Given the description of an element on the screen output the (x, y) to click on. 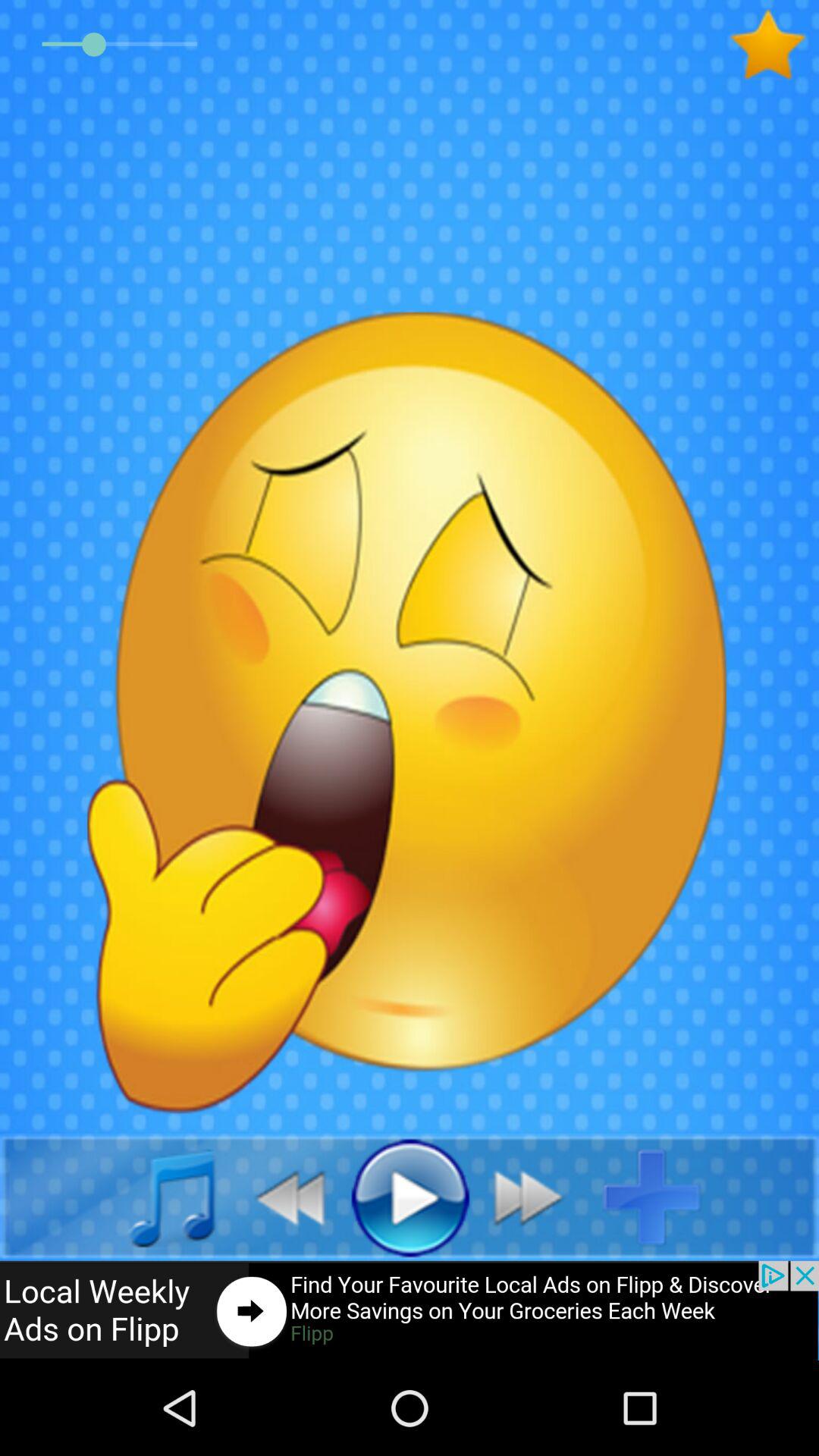
music (154, 1196)
